Given the description of an element on the screen output the (x, y) to click on. 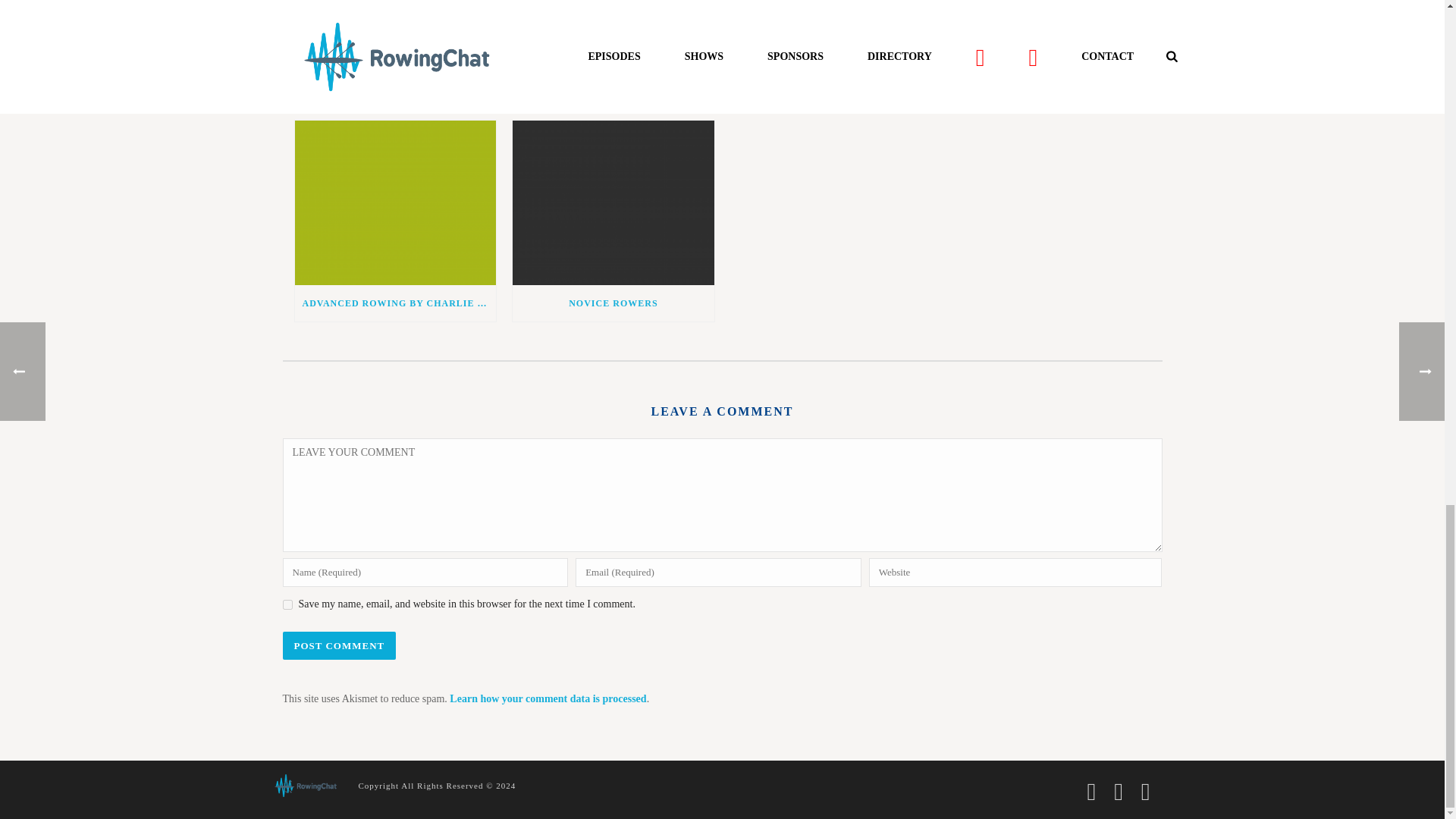
Follow me on Twitter (352, 18)
Novice rowers (613, 202)
POST COMMENT (339, 645)
Rowing Chat (304, 784)
Get in touch with me via email (372, 18)
yes (287, 604)
Advanced Rowing by Charlie Simpson and Jim Flood (395, 202)
